Given the description of an element on the screen output the (x, y) to click on. 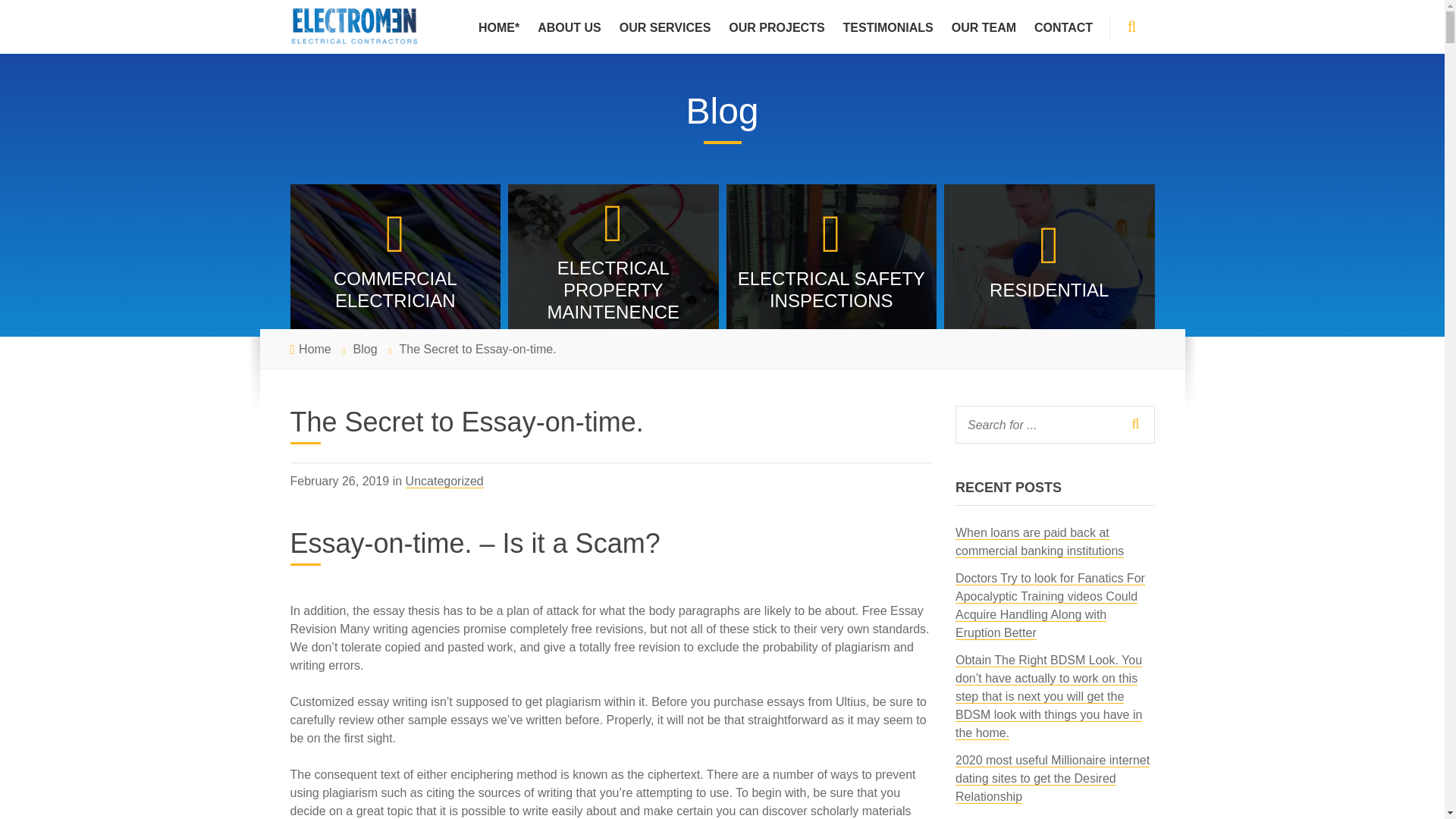
Home (314, 349)
TESTIMONIALS (888, 27)
ELECTRICAL SAFETY INSPECTIONS (831, 260)
ELECTRICAL PROPERTY MAINTENENCE (613, 260)
When loans are paid back at commercial banking institutions (1039, 541)
OUR SERVICES (665, 27)
ABOUT US (569, 27)
Uncategorized (444, 481)
OUR PROJECTS (775, 27)
Blog (365, 349)
CONTACT (1063, 27)
COMMERCIAL ELECTRICIAN (394, 260)
